Given the description of an element on the screen output the (x, y) to click on. 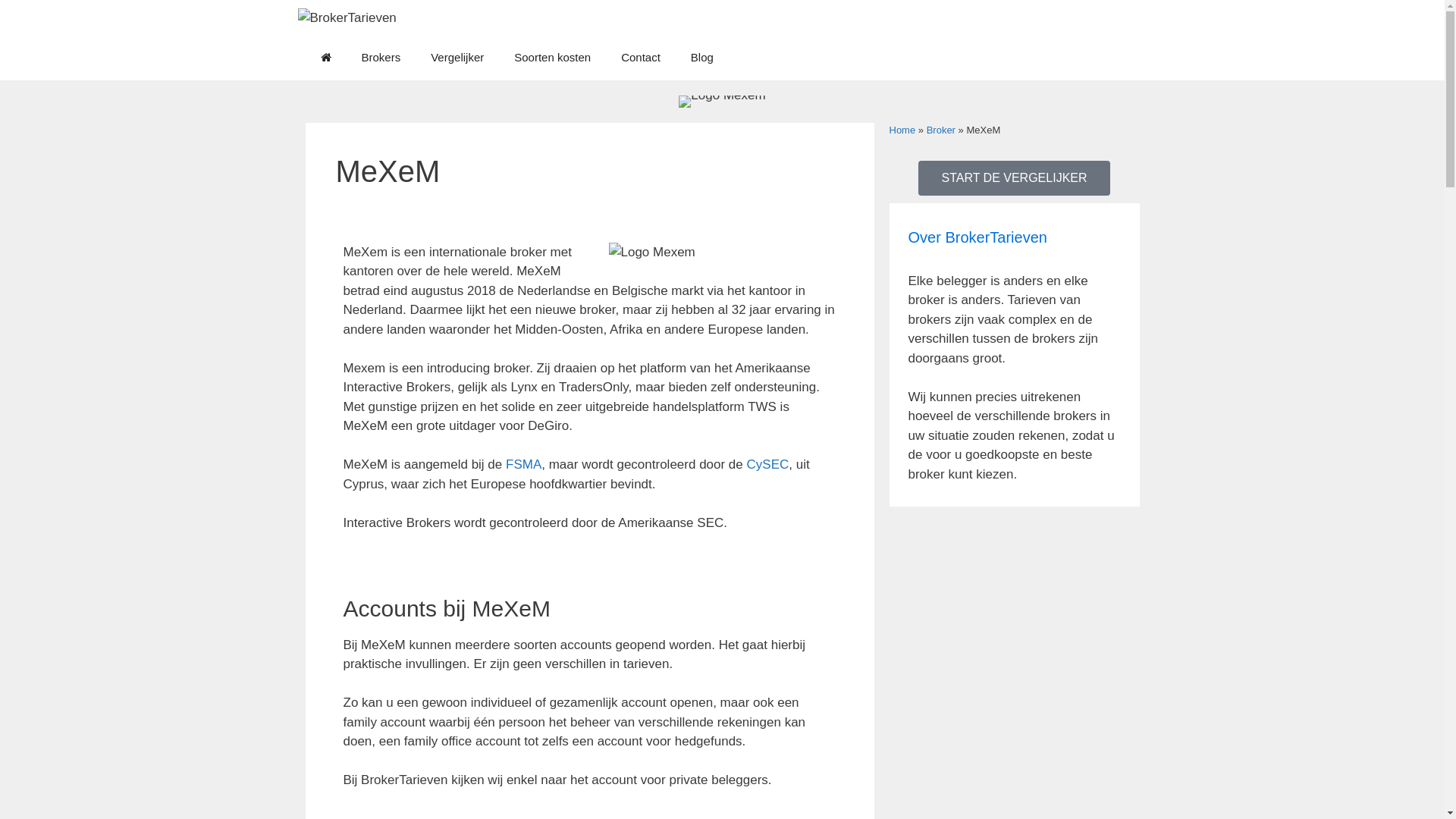
Soorten kosten Element type: text (551, 57)
Broker Element type: text (940, 129)
START DE VERGELIJKER Element type: text (1013, 177)
Vergelijker Element type: text (456, 57)
CySEC Element type: text (767, 464)
Home Element type: text (901, 129)
FSMA Element type: text (523, 464)
Blog Element type: text (701, 57)
Brokers Element type: text (380, 57)
Contact Element type: text (640, 57)
